Given the description of an element on the screen output the (x, y) to click on. 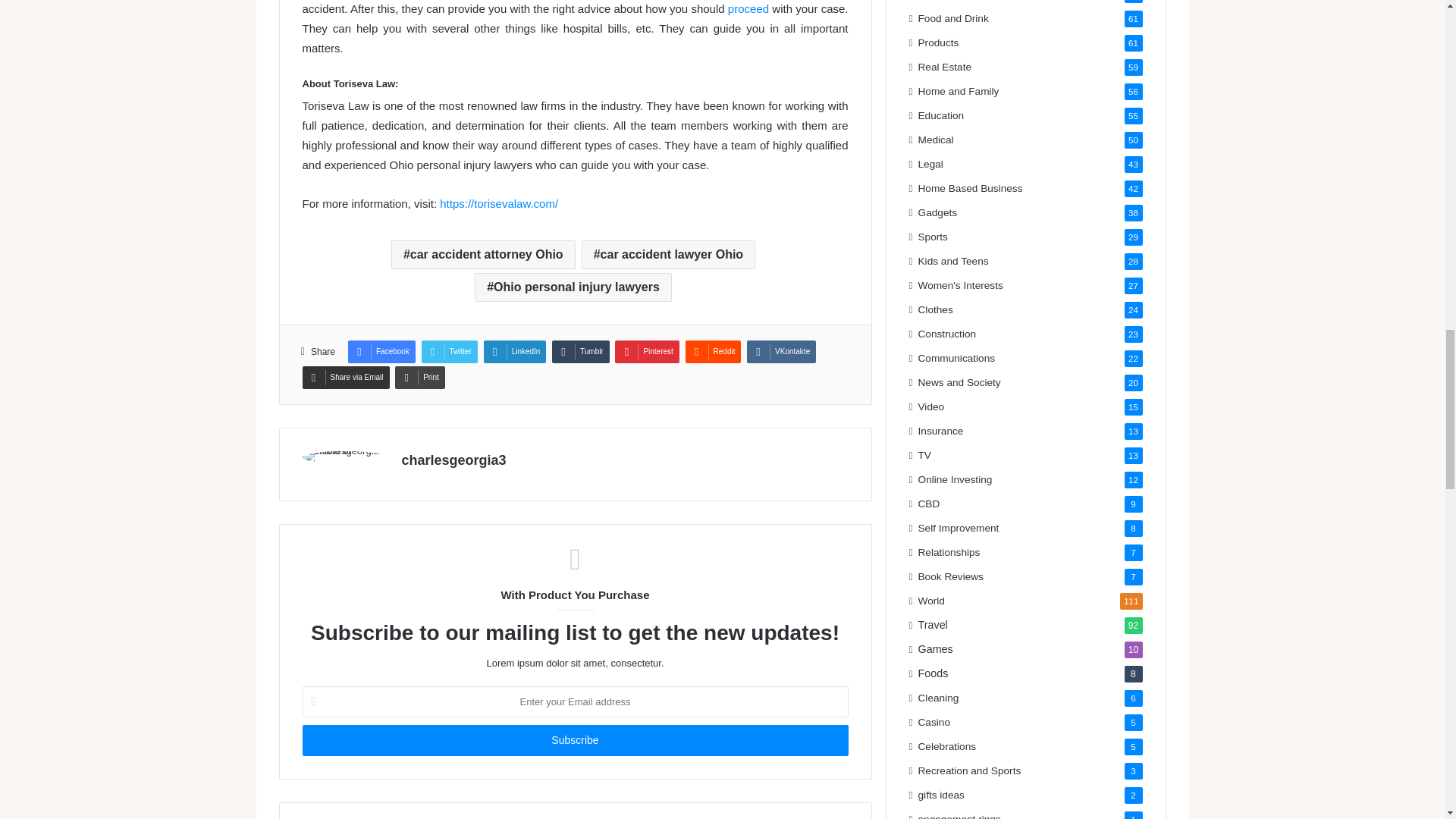
Subscribe (574, 739)
Reddit (713, 351)
car accident lawyer Ohio (667, 254)
Twitter (449, 351)
LinkedIn (515, 351)
VKontakte (780, 351)
Share via Email (344, 377)
Twitter (449, 351)
LinkedIn (515, 351)
Pinterest (646, 351)
